Given the description of an element on the screen output the (x, y) to click on. 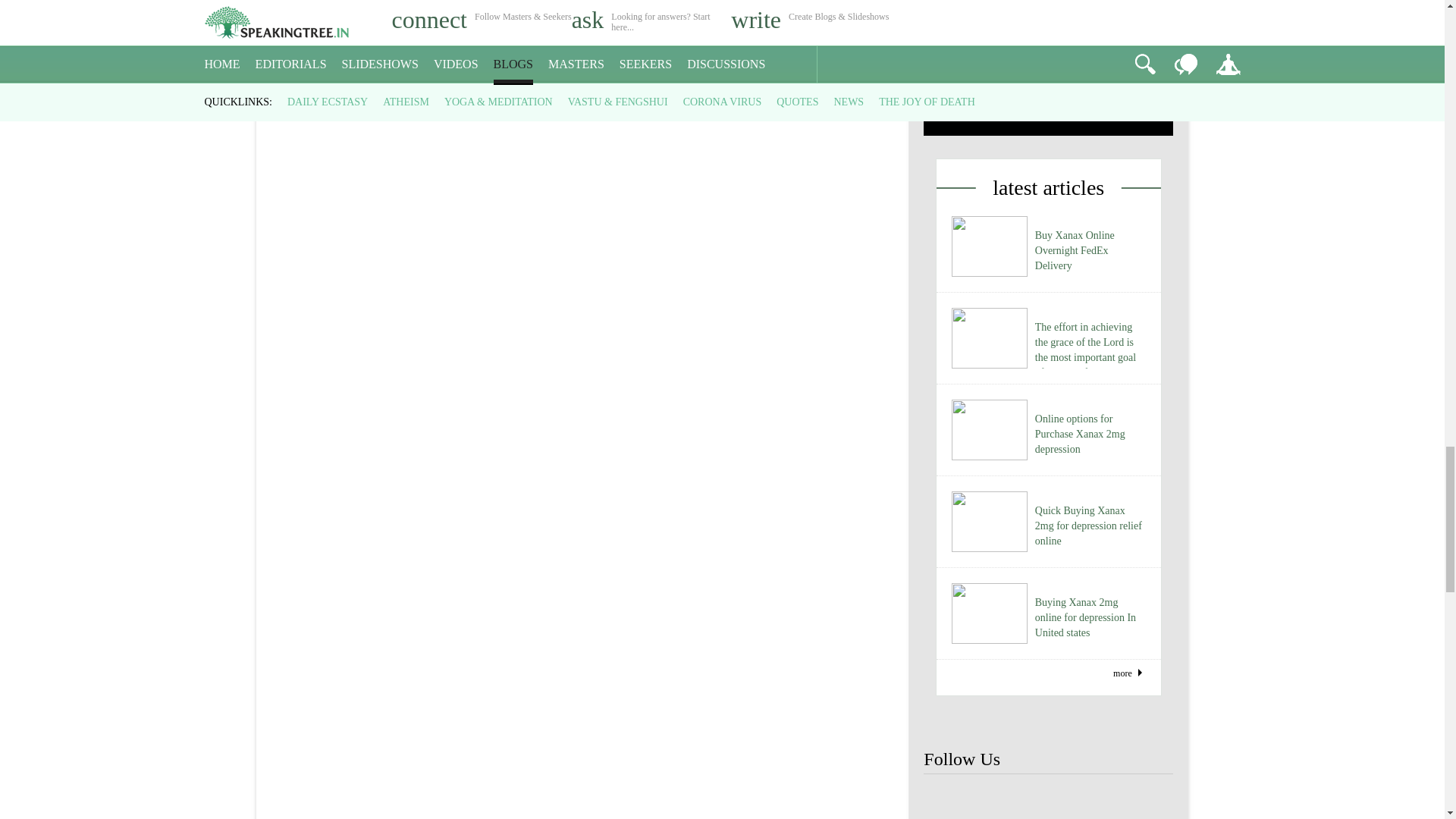
Speaking Tree FaceBook (1048, 800)
Speaking Tree FaceBook (948, 800)
Speaking Tree FaceBook (1147, 800)
Speaking Tree FaceBook (998, 800)
Speaking Tree FaceBook (1099, 800)
